Given the description of an element on the screen output the (x, y) to click on. 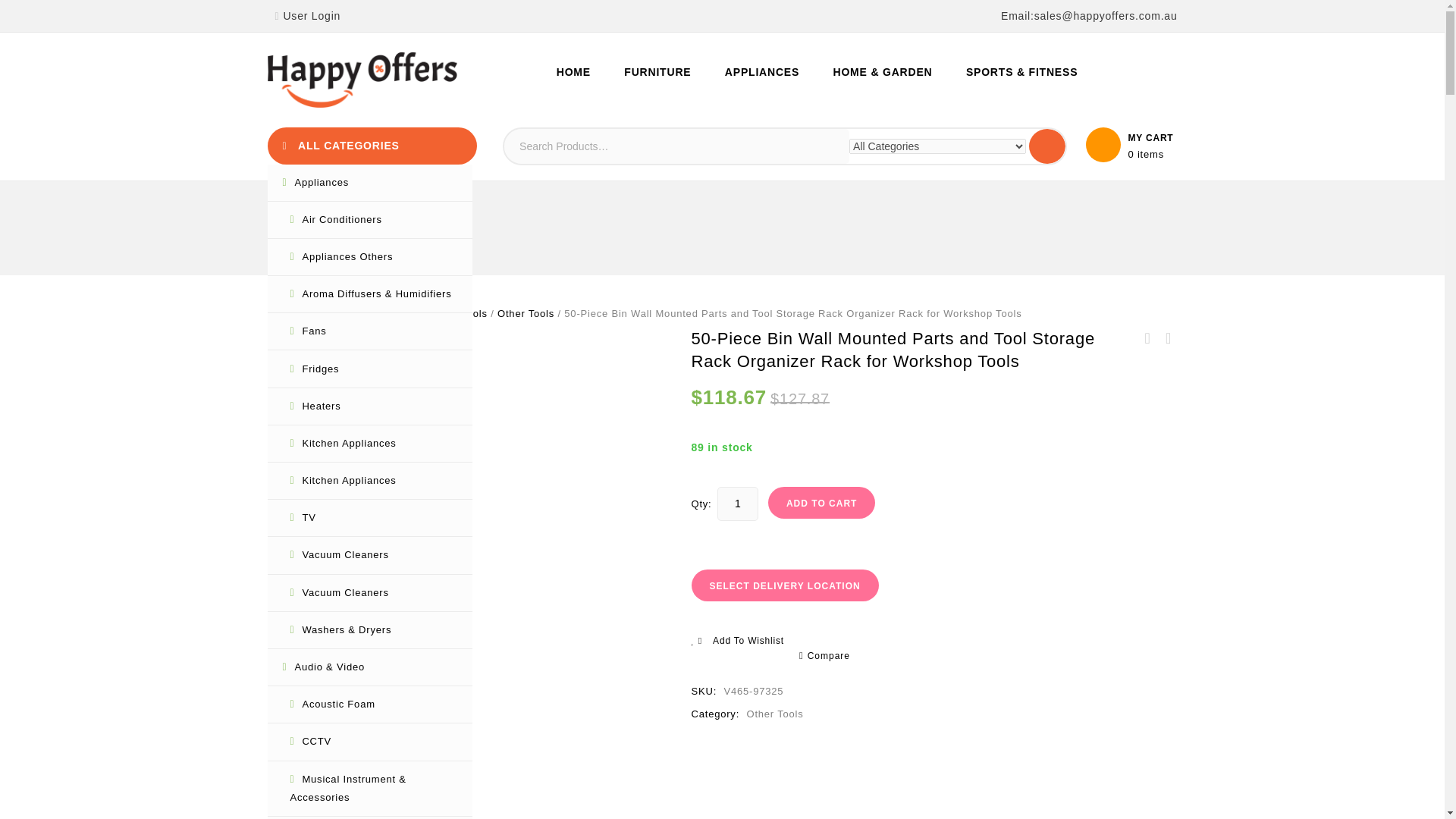
View your shopping cart (1149, 154)
FURNITURE (657, 72)
HOME (573, 72)
1 (737, 503)
APPLIANCES (761, 72)
happyoffers.com.au (361, 79)
View your shopping cart (1131, 144)
User Login (306, 15)
Search for: (675, 145)
Search (1047, 145)
